Given the description of an element on the screen output the (x, y) to click on. 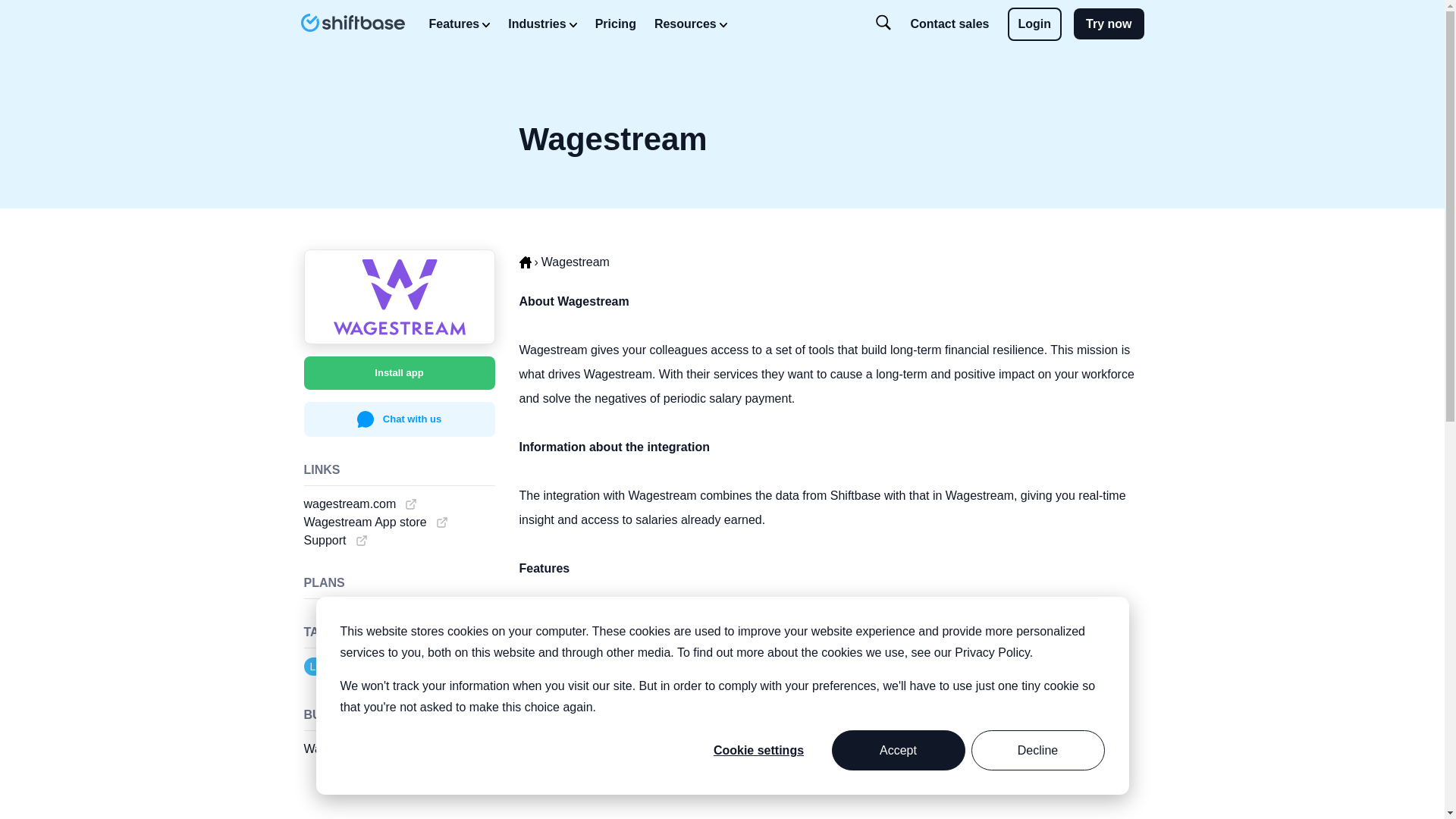
Industries (542, 24)
Features (459, 24)
Shiftbase (351, 22)
Resources (690, 24)
Pricing (615, 23)
